Given the description of an element on the screen output the (x, y) to click on. 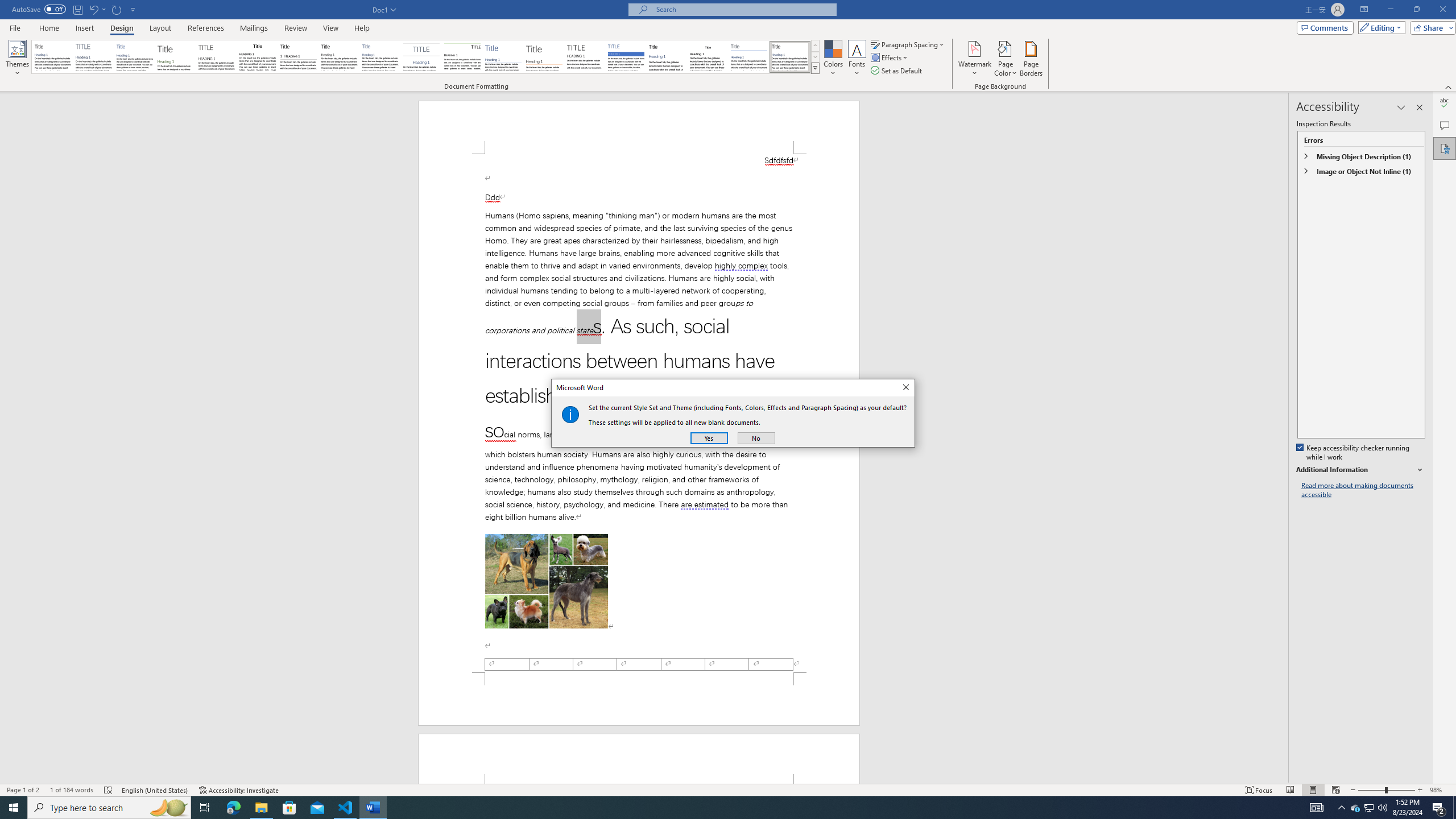
Page Number Page 1 of 2 (22, 790)
Effects (890, 56)
Colors (832, 58)
